Given the description of an element on the screen output the (x, y) to click on. 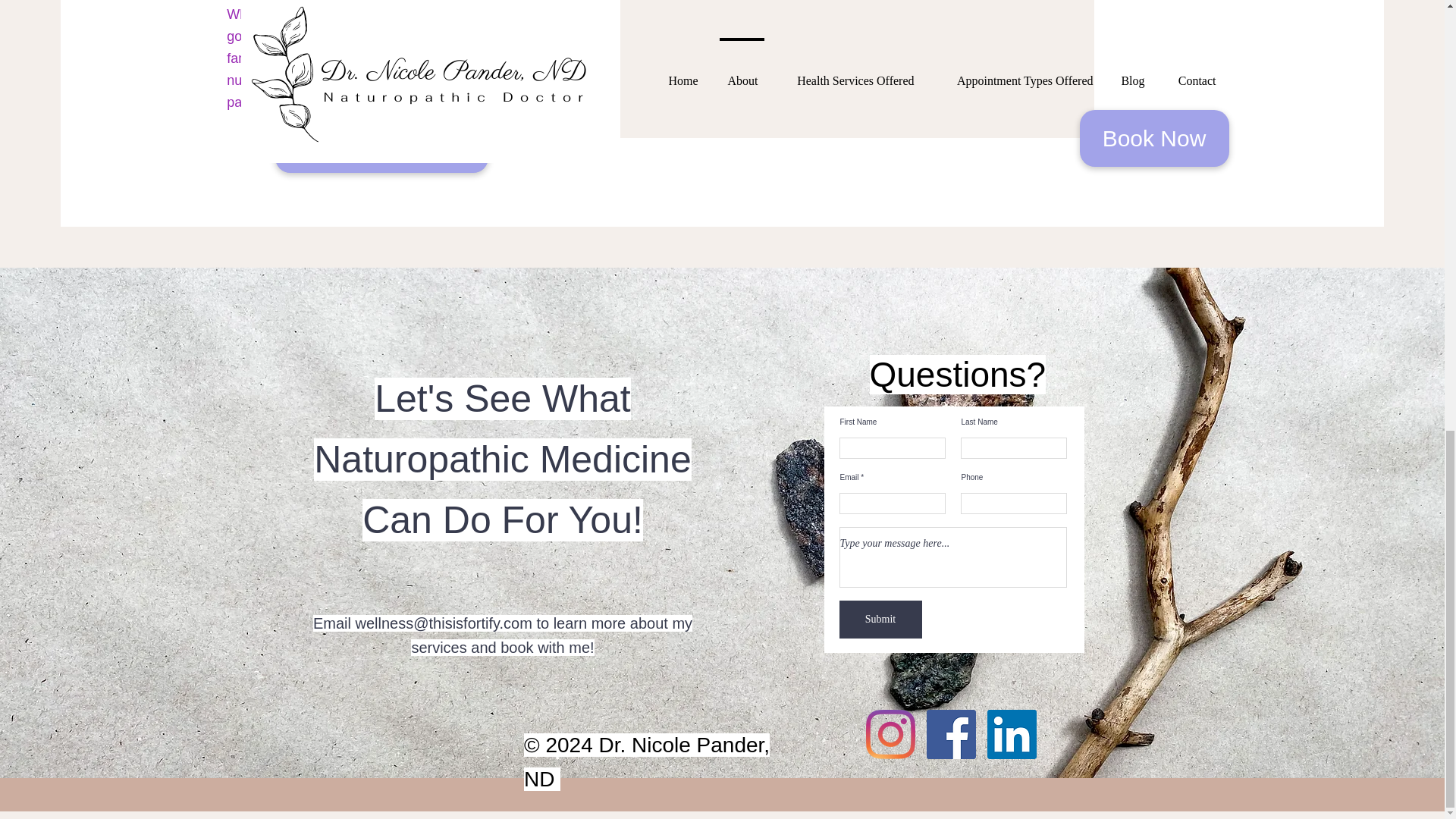
Submit (879, 619)
Book A Consultation (381, 153)
